Given the description of an element on the screen output the (x, y) to click on. 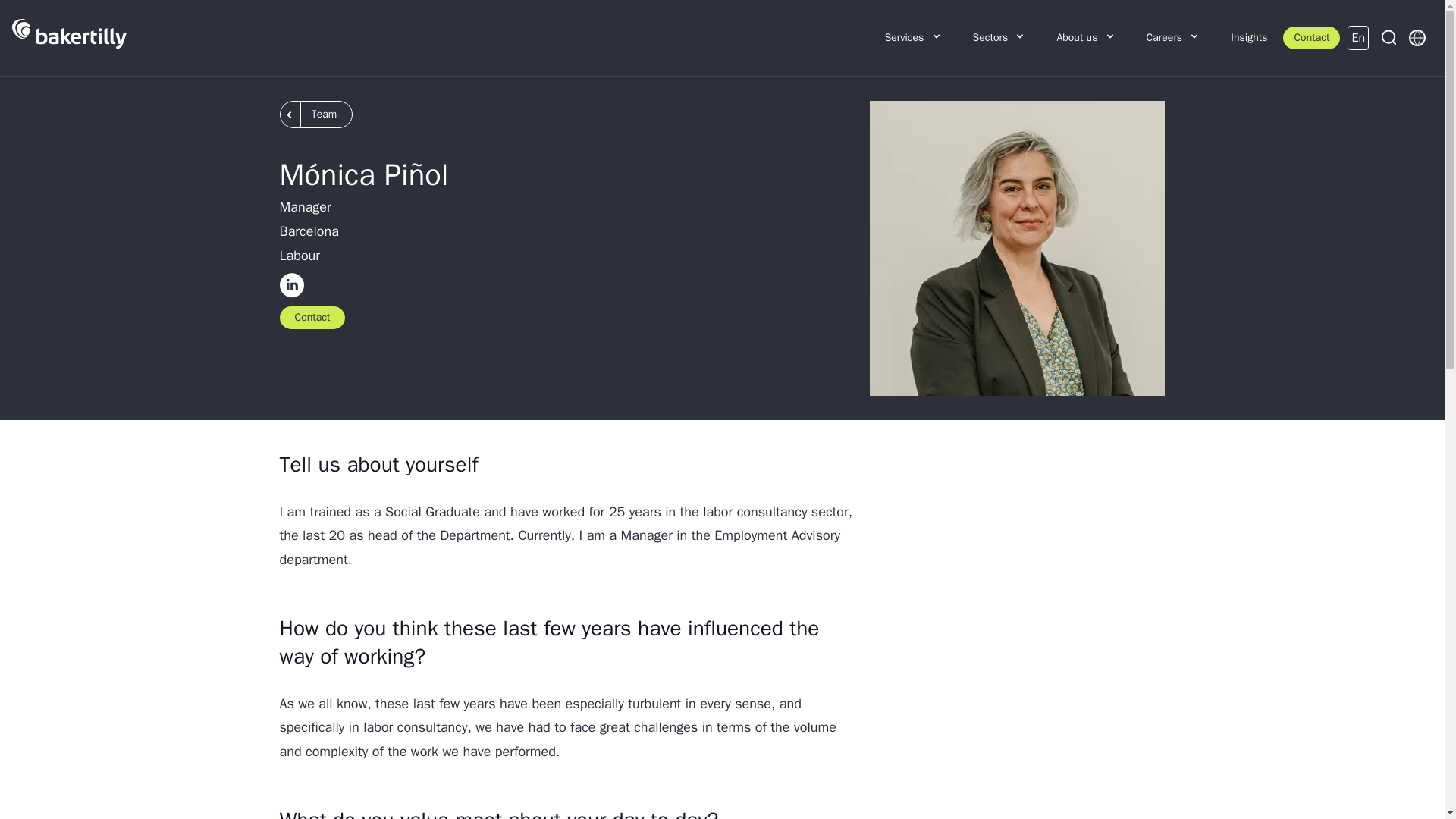
Go to the Baker Tilly Spain home page (68, 37)
Careers (1173, 38)
Services (913, 38)
About us (1086, 38)
Sectors (1000, 38)
